Given the description of an element on the screen output the (x, y) to click on. 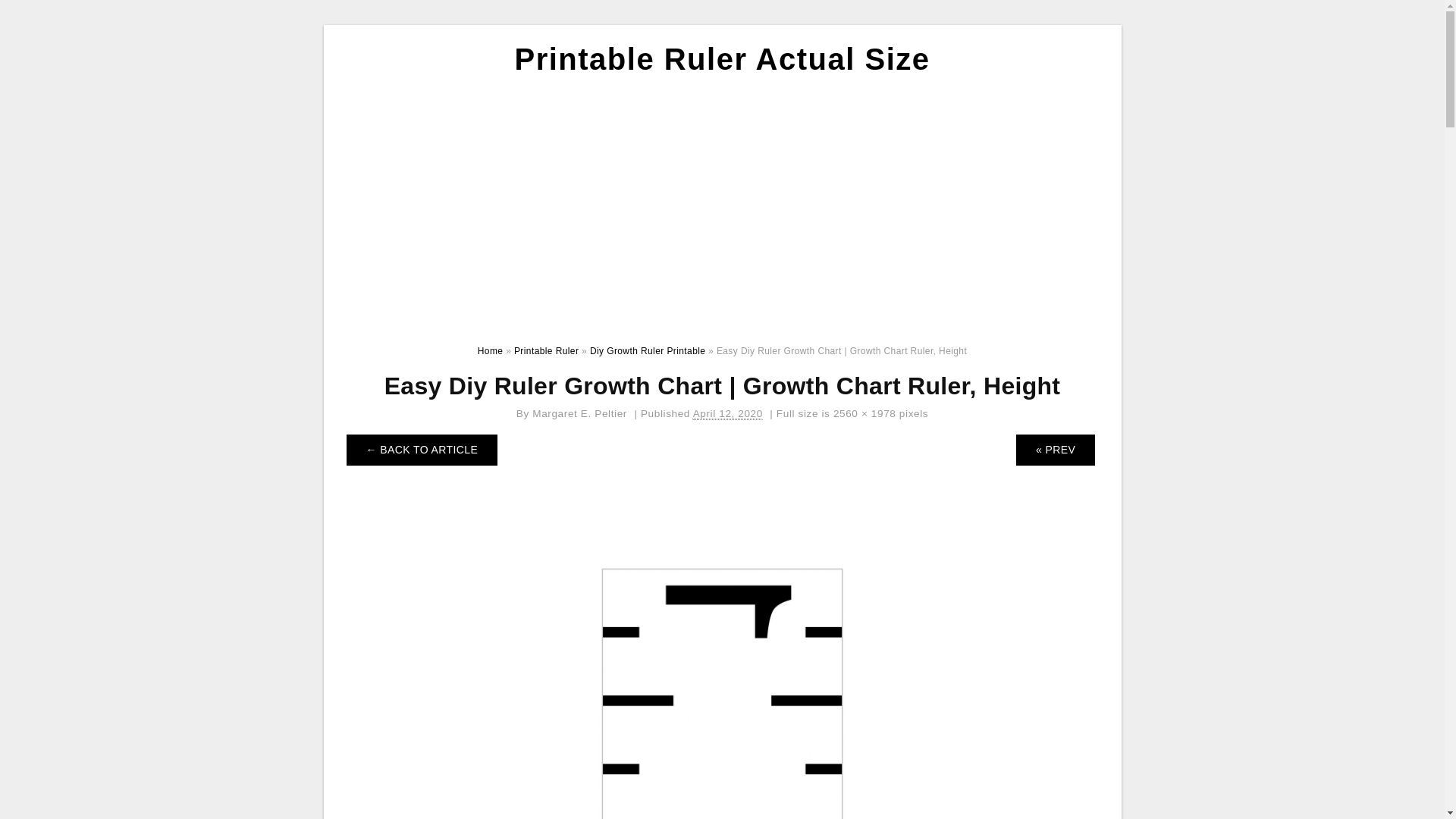
Home (490, 350)
Margaret E. Peltier (579, 413)
Return to Diy Growth Ruler Printable (421, 450)
Link to full-size image (864, 413)
Diy Growth Ruler Printable (646, 350)
Printable Ruler (545, 350)
1:00 pm (727, 413)
Printable Ruler Actual Size (721, 59)
View all posts by Margaret E. Peltier (579, 413)
